Given the description of an element on the screen output the (x, y) to click on. 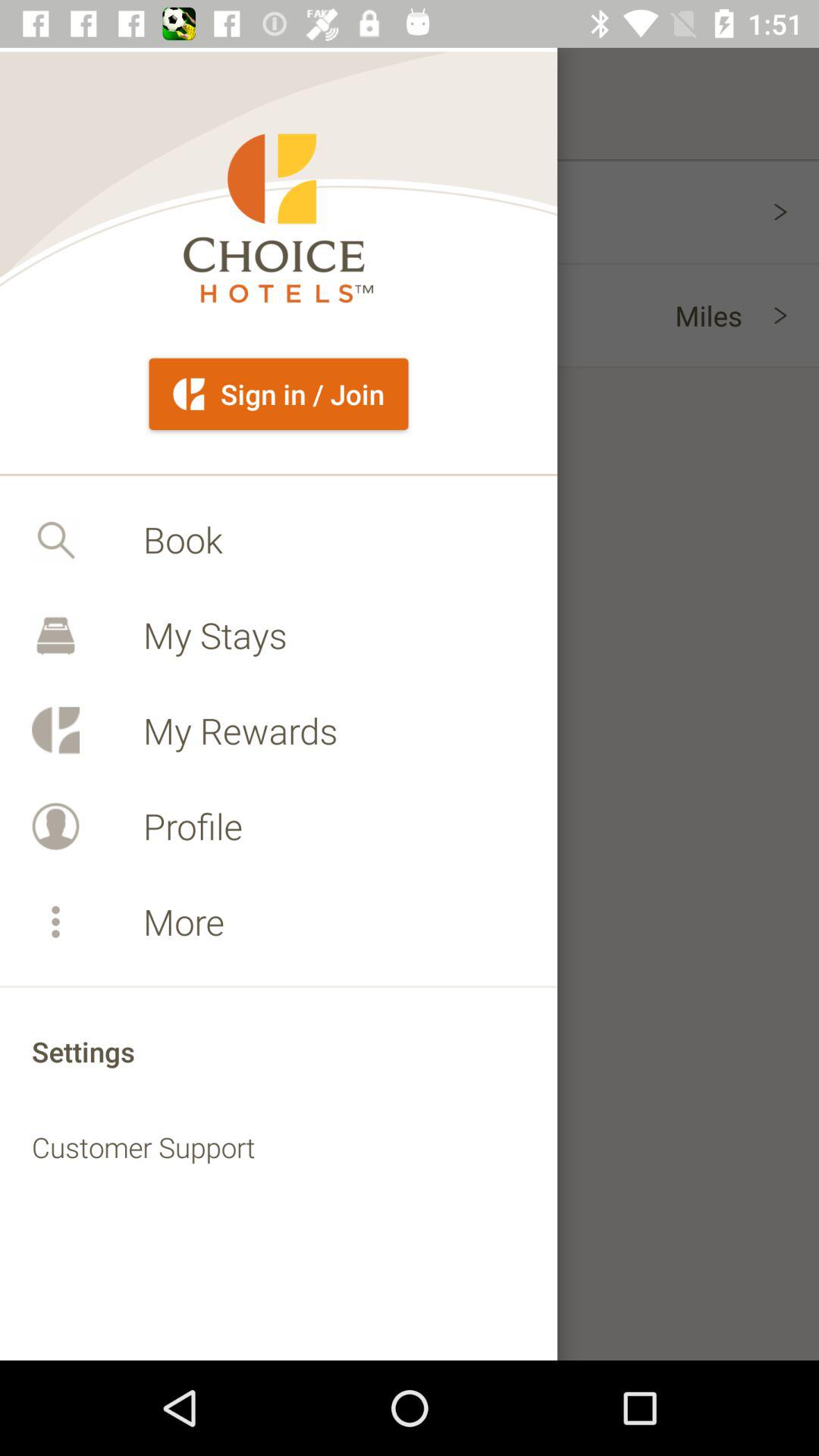
select the second right scroll (796, 314)
click on the logo which is above the sign injoin (278, 217)
